Given the description of an element on the screen output the (x, y) to click on. 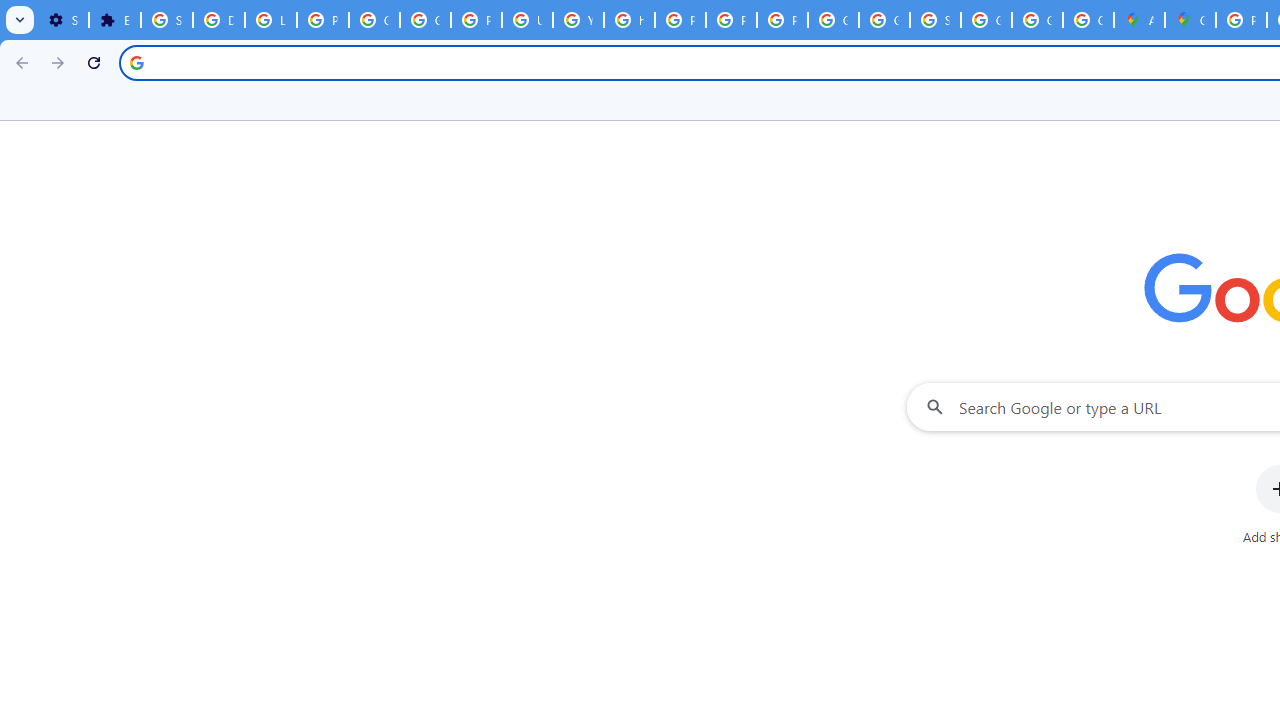
Search icon (136, 62)
Google Maps (1189, 20)
Learn how to find your photos - Google Photos Help (270, 20)
YouTube (578, 20)
Settings - On startup (63, 20)
Create your Google Account (1087, 20)
Privacy Help Center - Policies Help (680, 20)
Extensions (114, 20)
https://scholar.google.com/ (629, 20)
